Given the description of an element on the screen output the (x, y) to click on. 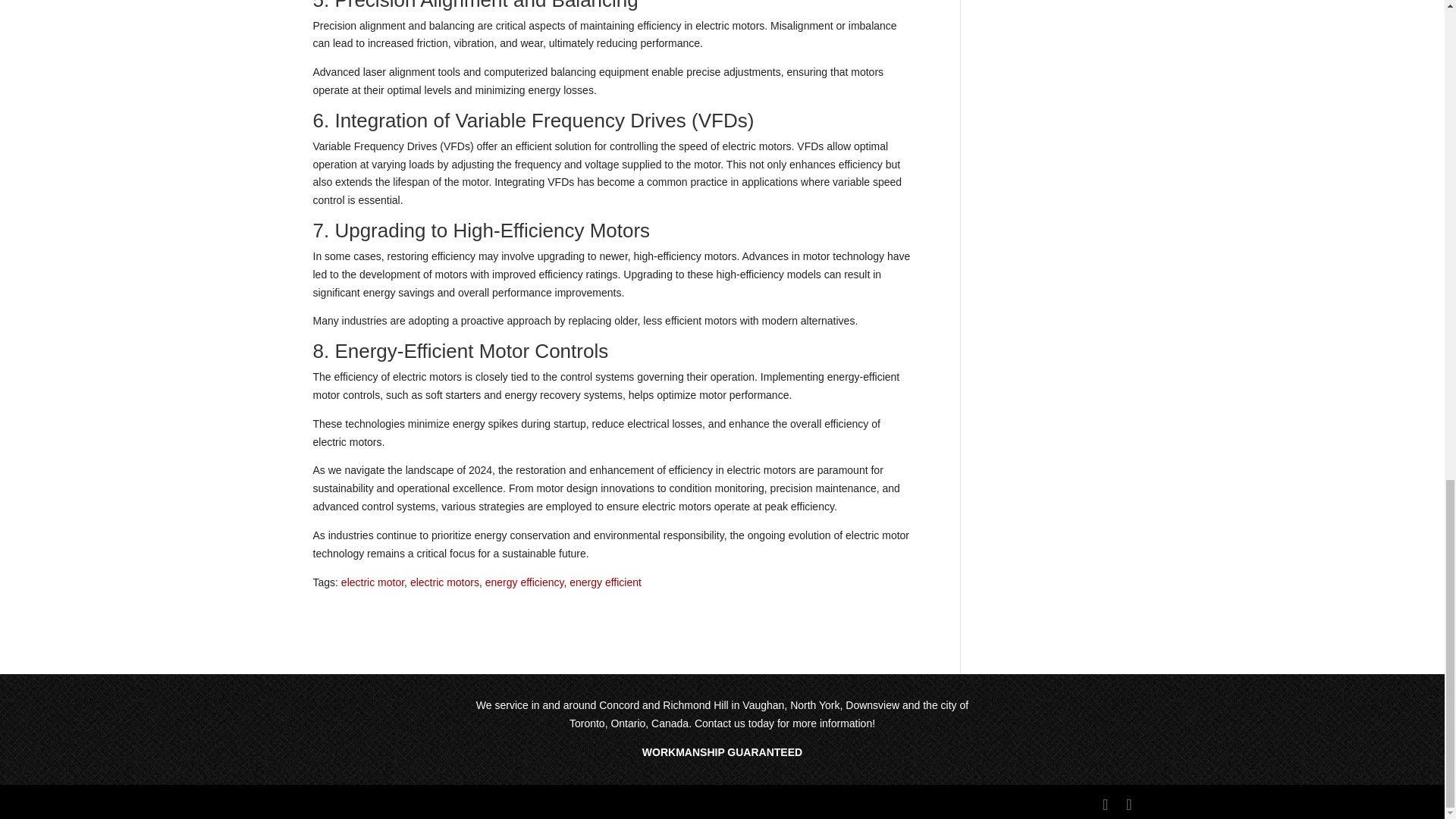
electric motors (444, 582)
electric motor (372, 582)
energy efficiency (524, 582)
energy efficient (605, 582)
Contact us (719, 723)
